Given the description of an element on the screen output the (x, y) to click on. 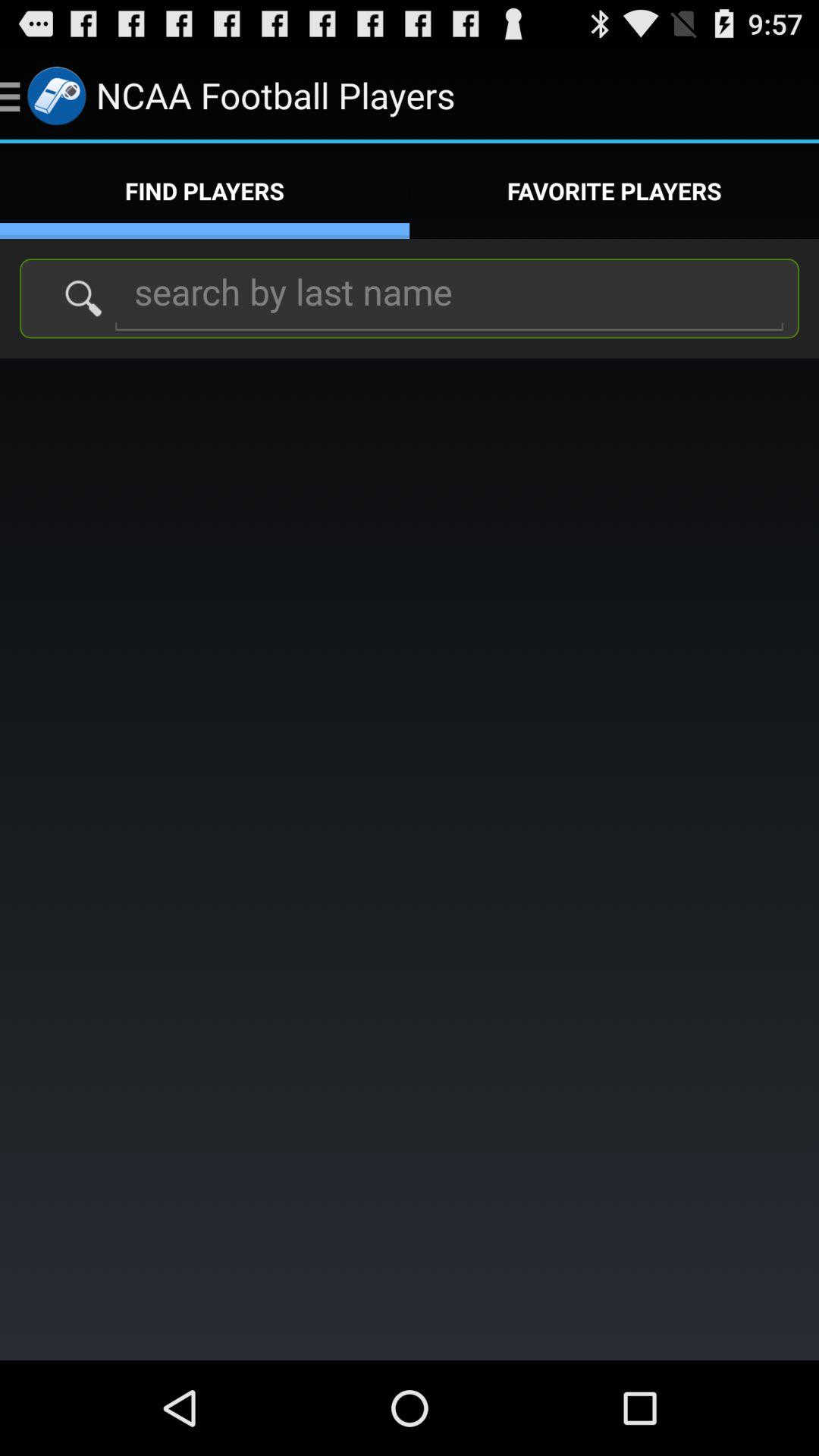
click the app below the find players item (449, 296)
